Given the description of an element on the screen output the (x, y) to click on. 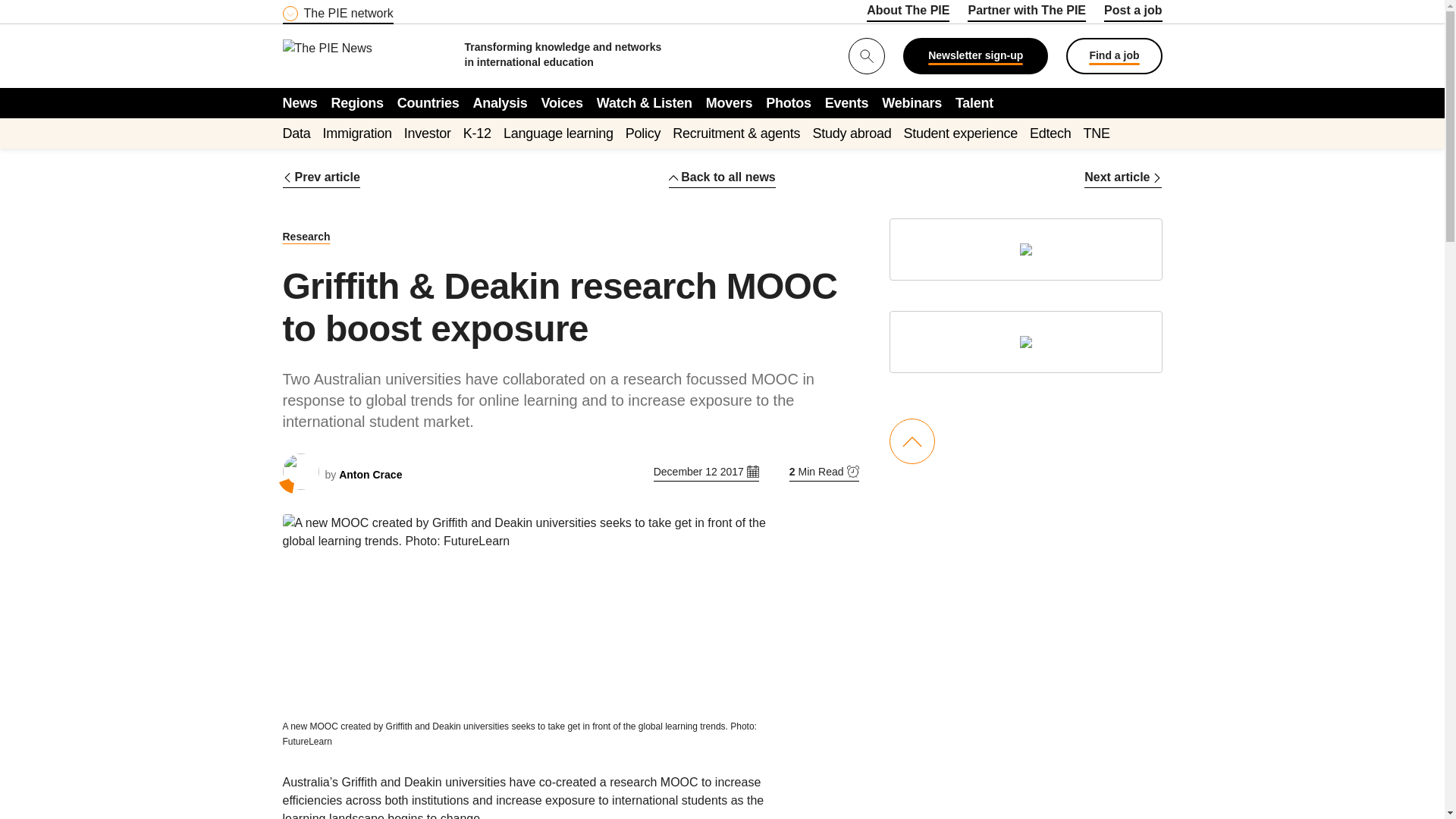
Investor (427, 132)
Countries (428, 102)
About The PIE (907, 13)
Partner with The PIE (1027, 13)
Study abroad (851, 132)
Find a job (1113, 55)
Post a job (1132, 13)
Immigration (357, 132)
Regions (357, 102)
Data (296, 132)
K-12 (477, 132)
Edtech (1050, 132)
TNE (1096, 132)
Content (373, 9)
Newsletter sign-up (975, 55)
